Given the description of an element on the screen output the (x, y) to click on. 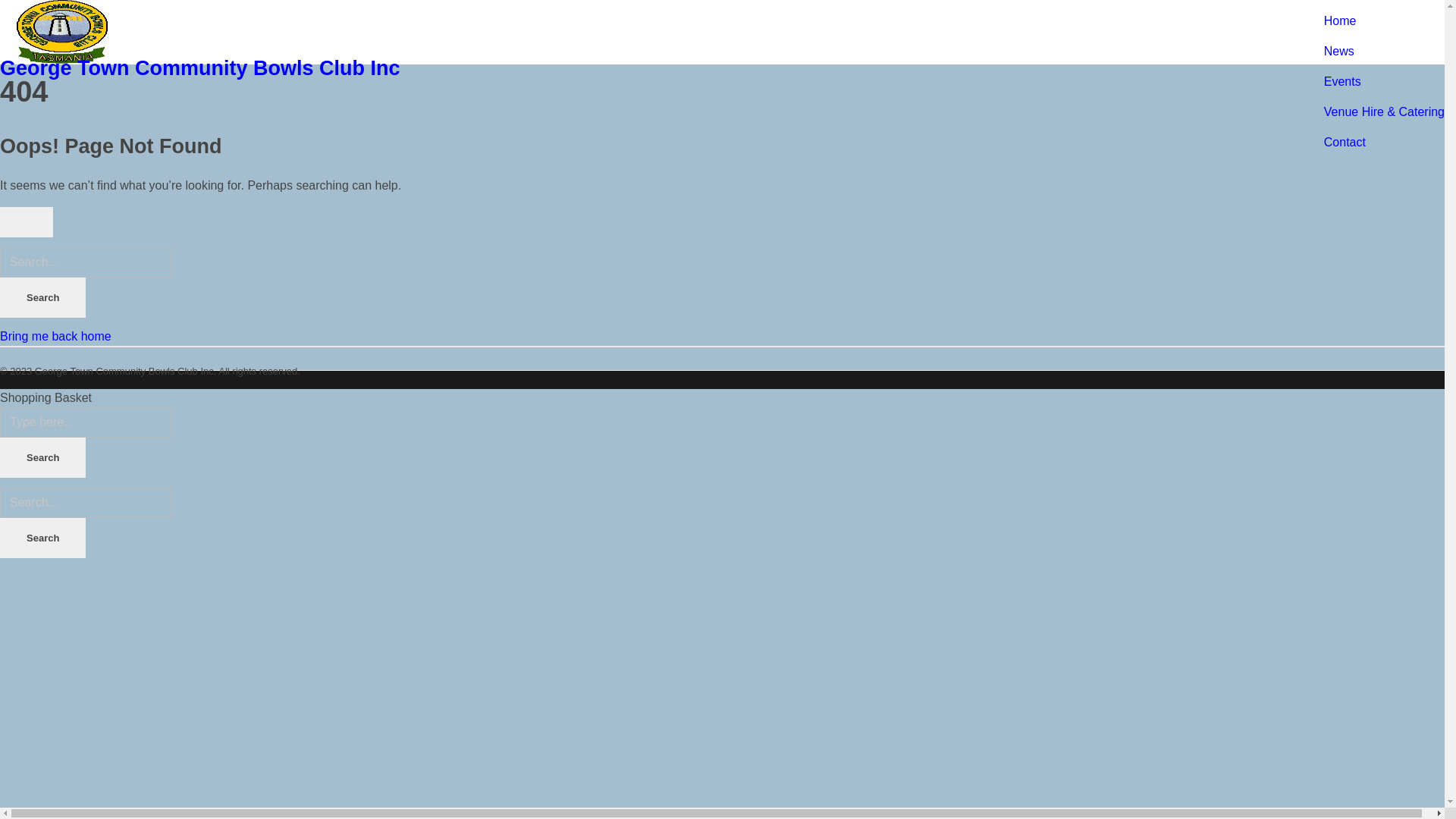
Contact Element type: text (1344, 141)
Venue Hire & Catering Element type: text (1384, 111)
Home Element type: text (1340, 20)
Bring me back home Element type: text (55, 335)
Search Element type: text (42, 297)
Search Element type: text (42, 457)
Events Element type: text (1342, 81)
News Element type: text (1339, 50)
Search Element type: text (42, 537)
George Town Community Bowls Club Inc Element type: text (200, 67)
